Given the description of an element on the screen output the (x, y) to click on. 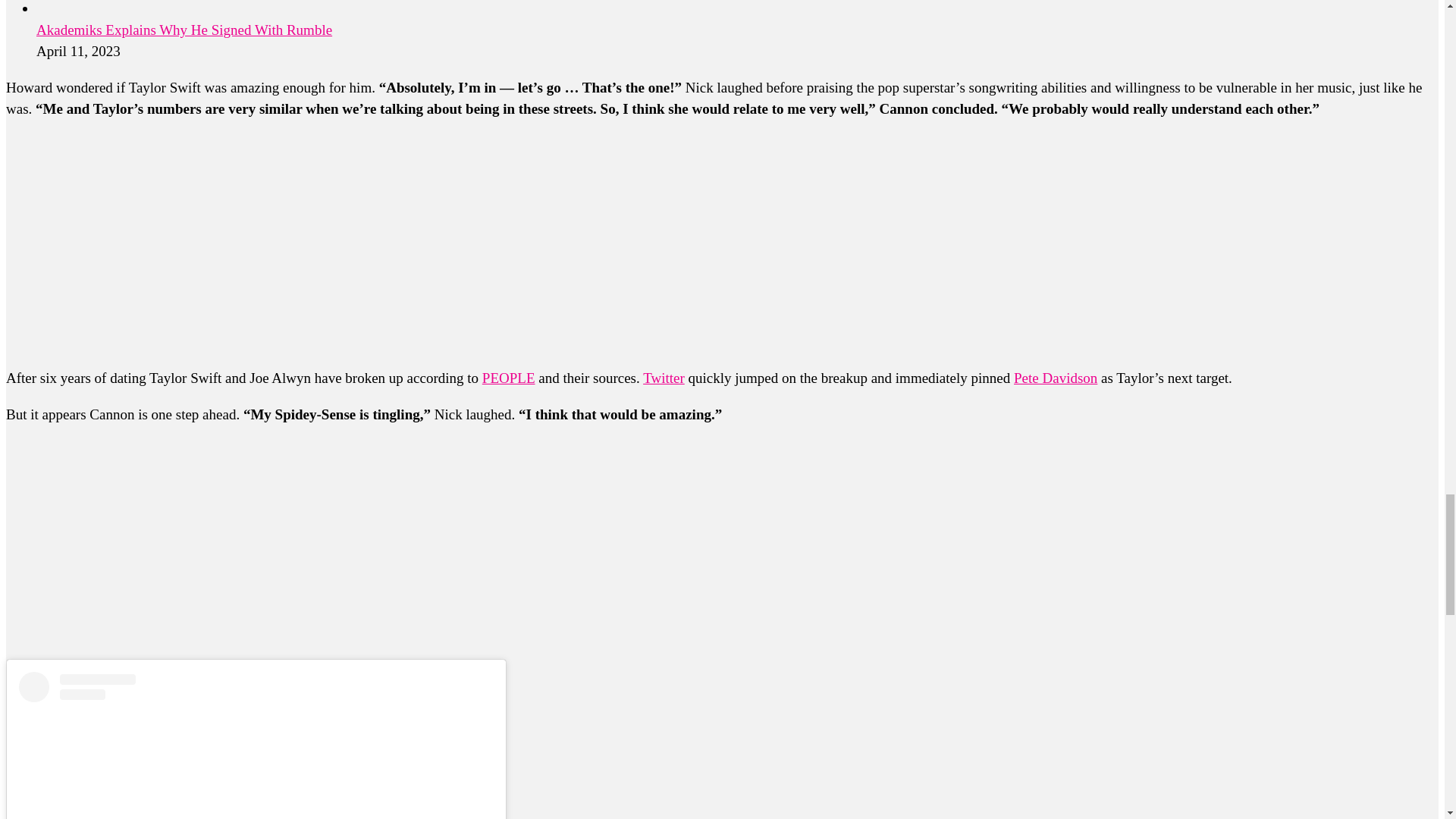
PEOPLE (508, 377)
Twitter (663, 377)
Akademiks Explains Why He Signed With Rumble (183, 29)
